Given the description of an element on the screen output the (x, y) to click on. 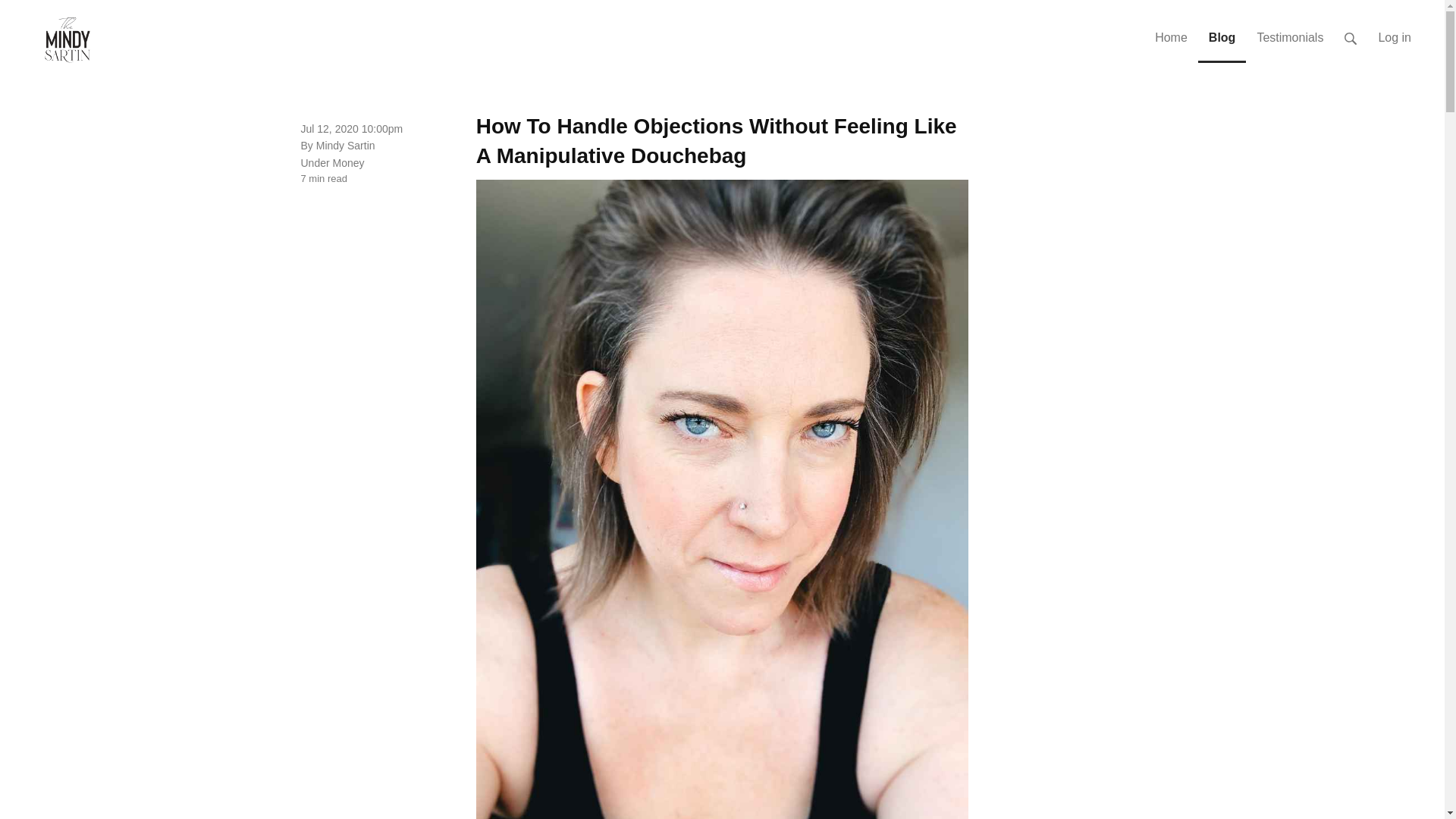
Money (349, 162)
Testimonials (1289, 31)
